Given the description of an element on the screen output the (x, y) to click on. 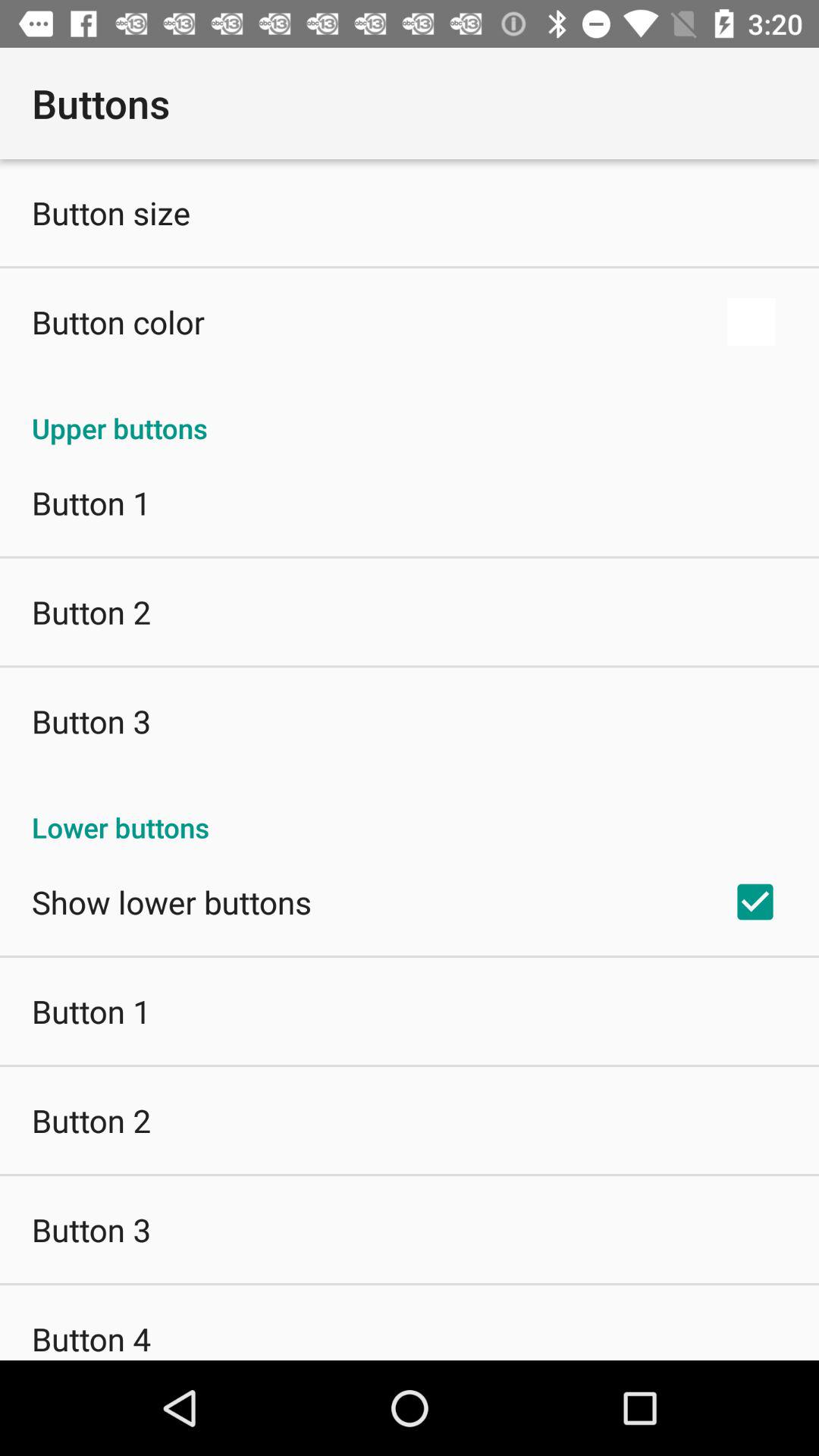
turn off the checkbox on the right (755, 901)
